Given the description of an element on the screen output the (x, y) to click on. 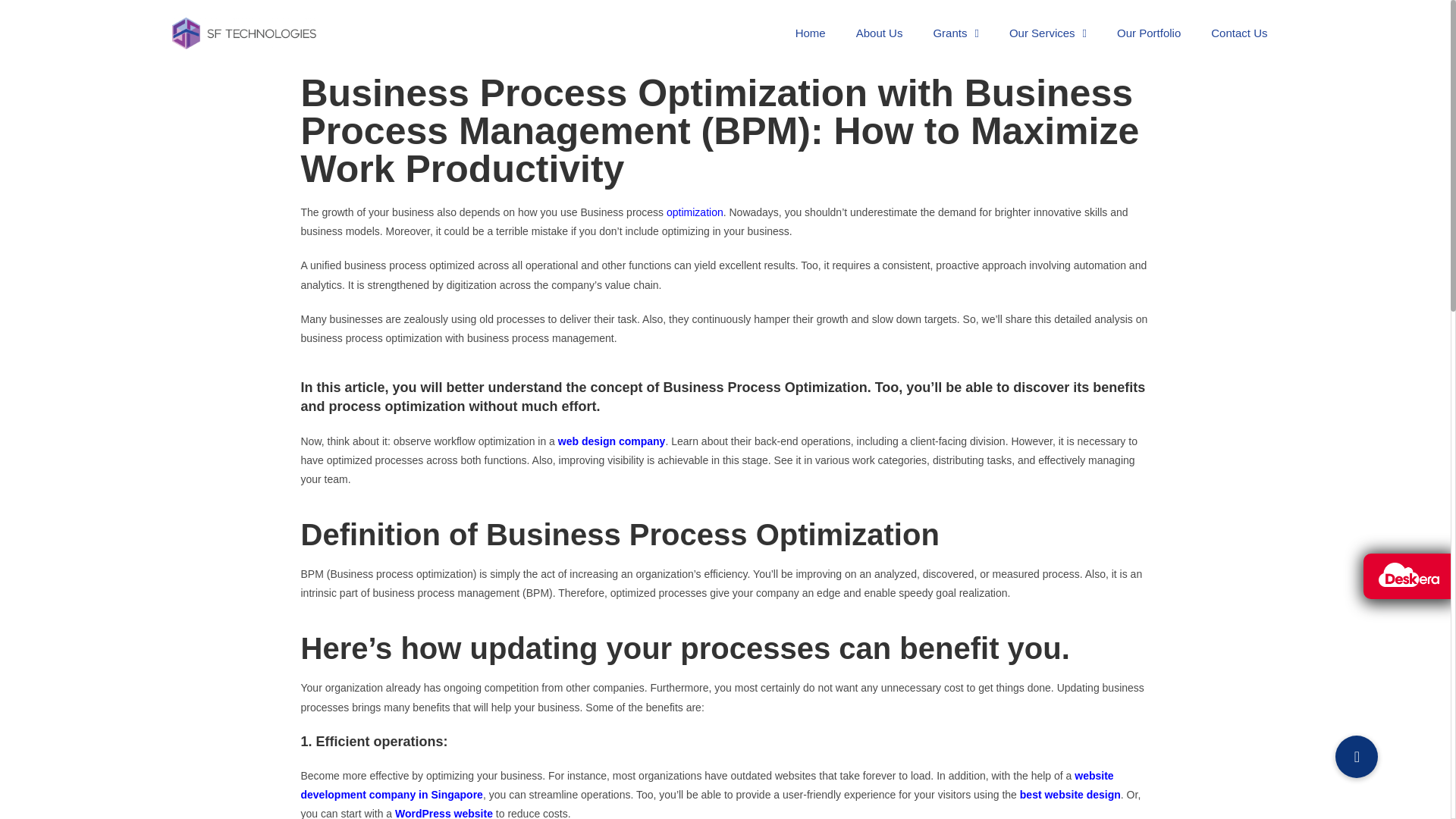
Our Portfolio (1148, 32)
Contact Us (1238, 32)
Our Services (1048, 32)
About Us (879, 32)
Home (810, 32)
Grants (955, 32)
